Given the description of an element on the screen output the (x, y) to click on. 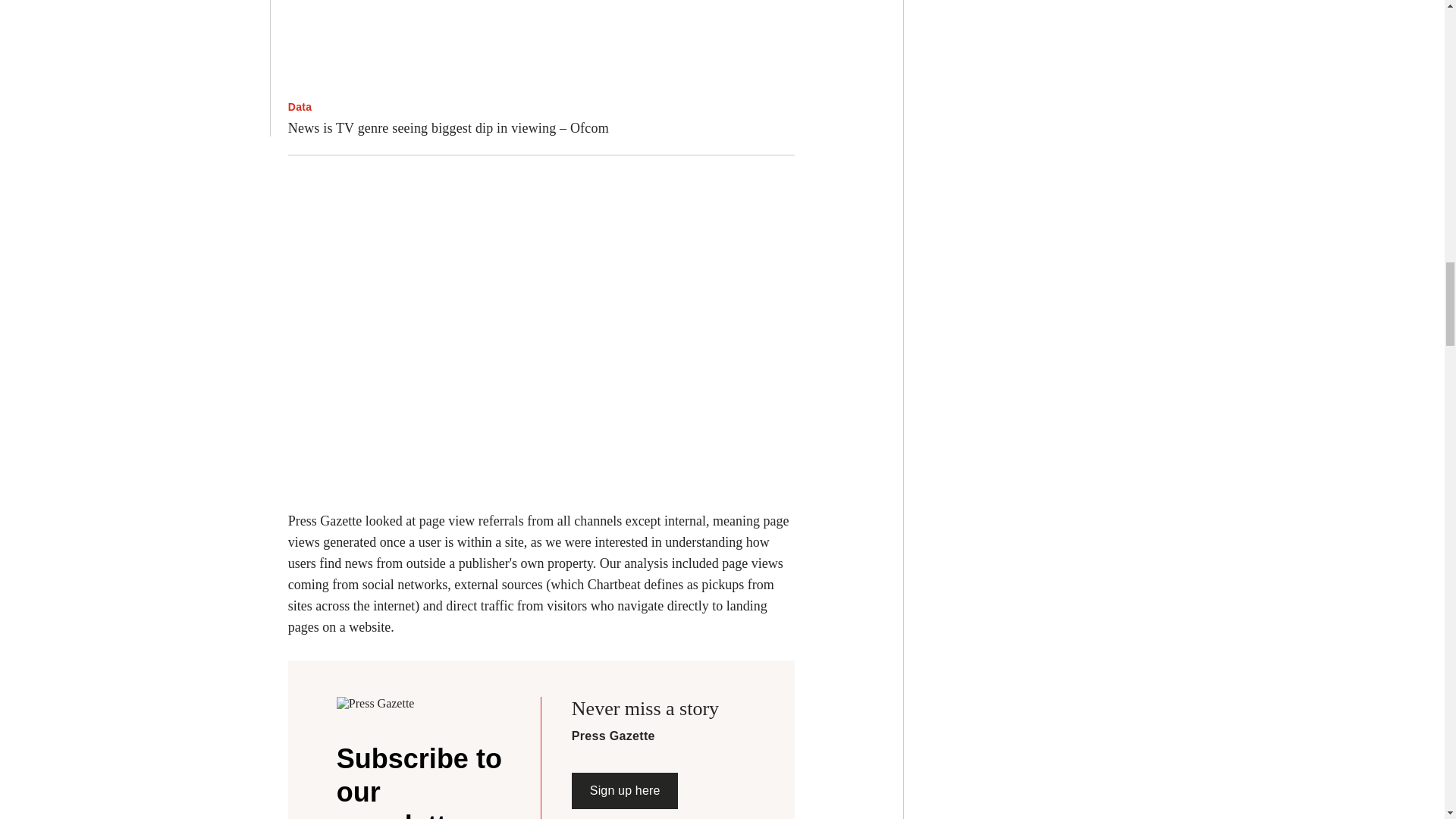
Press Gazette  (387, 703)
News is TV genre seeing biggest dip in viewing - Ofcom (541, 46)
